Given the description of an element on the screen output the (x, y) to click on. 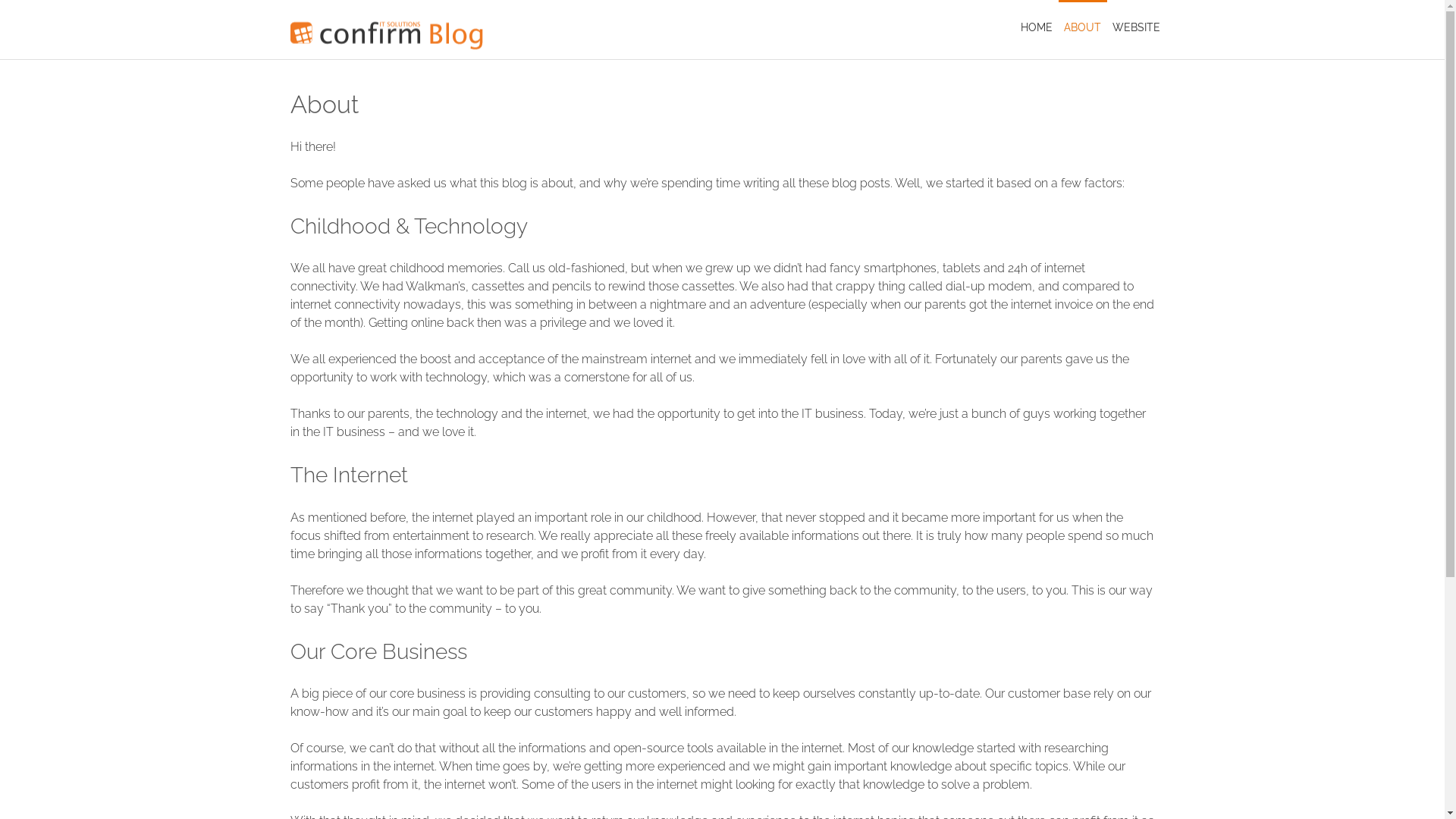
ABOUT Element type: text (1082, 27)
WEBSITE Element type: text (1136, 27)
Skip to content Element type: text (0, 0)
HOME Element type: text (1035, 27)
About Element type: text (323, 104)
